Given the description of an element on the screen output the (x, y) to click on. 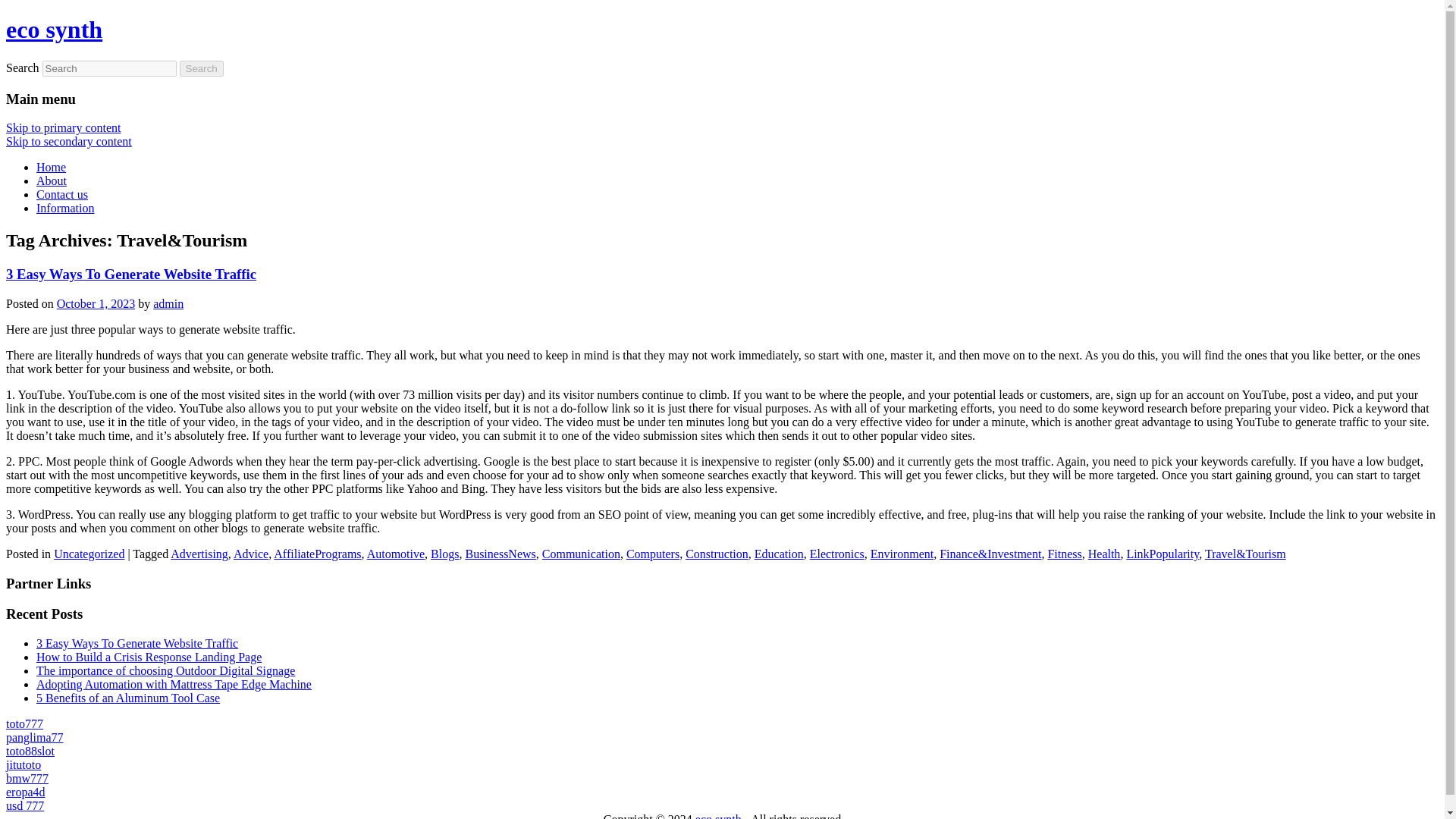
Adopting Automation with Mattress Tape Edge Machine (173, 684)
View all posts in Uncategorized (88, 553)
Computers (652, 553)
eropa4d (25, 791)
BusinessNews (499, 553)
Contact us (61, 194)
Uncategorized (88, 553)
About (51, 180)
The importance of choosing Outdoor Digital Signage (165, 670)
admin (167, 303)
About (51, 180)
panglima77 (34, 737)
How to Build a Crisis Response Landing Page (149, 656)
LinkPopularity (1161, 553)
Fitness (1063, 553)
